Given the description of an element on the screen output the (x, y) to click on. 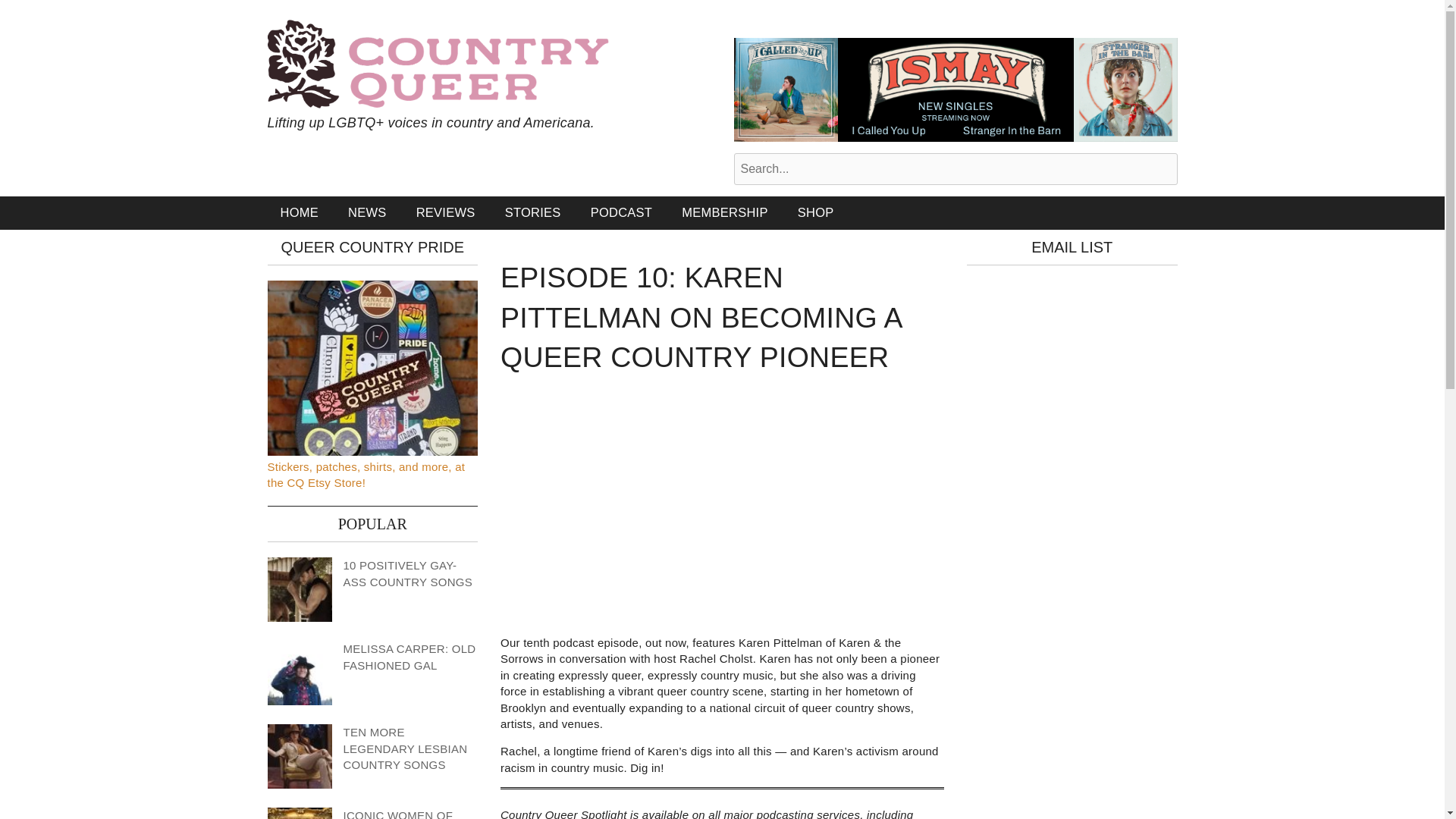
PODCAST (621, 211)
TEN MORE LEGENDARY LESBIAN COUNTRY SONGS (404, 748)
STORIES (532, 211)
Stickers, patches, shirts, and more, at the CQ Etsy Store! (365, 474)
MEMBERSHIP (723, 211)
REVIEWS (445, 211)
10 POSITIVELY GAY-ASS COUNTRY SONGS (406, 573)
SHOP (815, 211)
HOME (298, 211)
NEWS (366, 211)
